Given the description of an element on the screen output the (x, y) to click on. 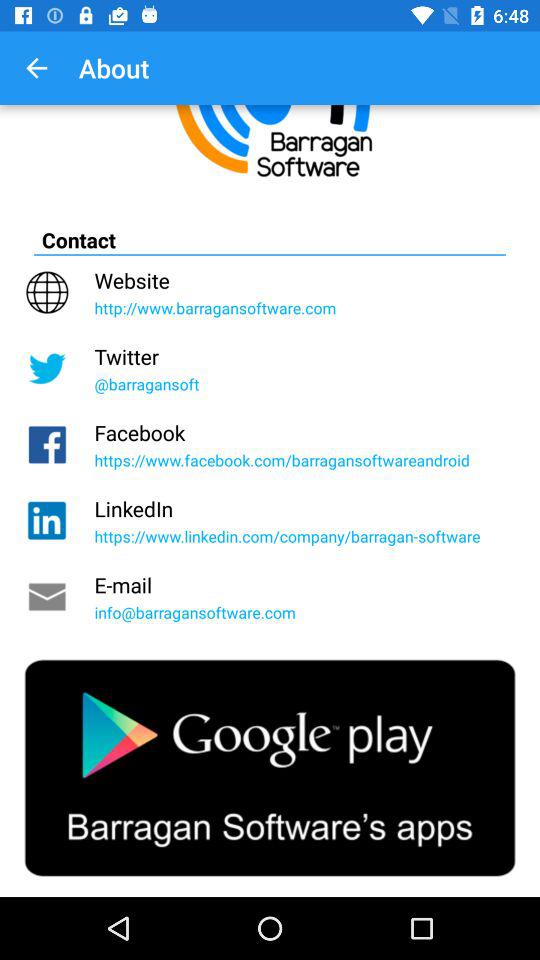
click to go to the advertisement 's page (269, 767)
